Given the description of an element on the screen output the (x, y) to click on. 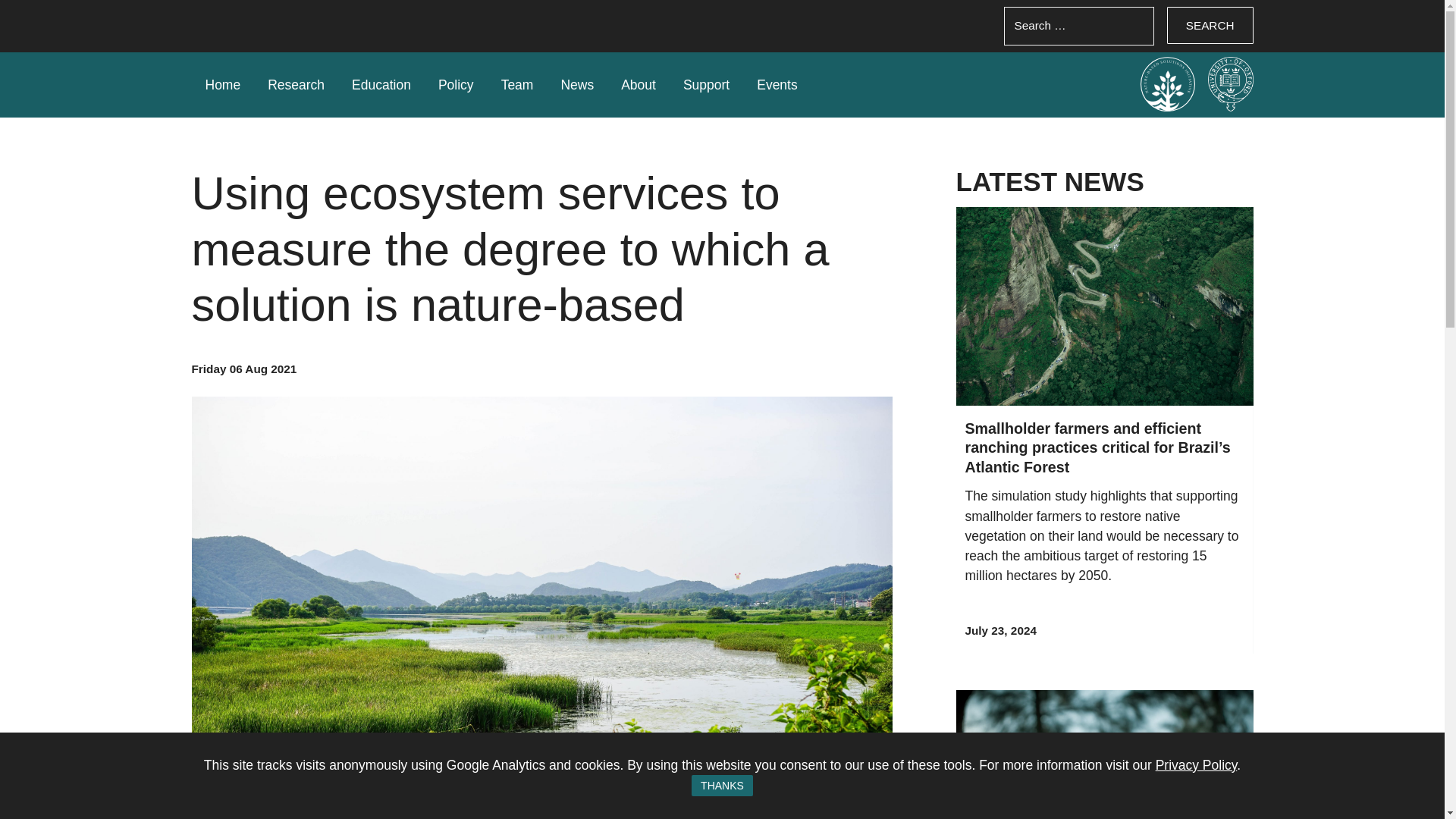
Search (1210, 25)
Search (1210, 25)
Search (1210, 25)
Home (222, 85)
Research (296, 85)
